Given the description of an element on the screen output the (x, y) to click on. 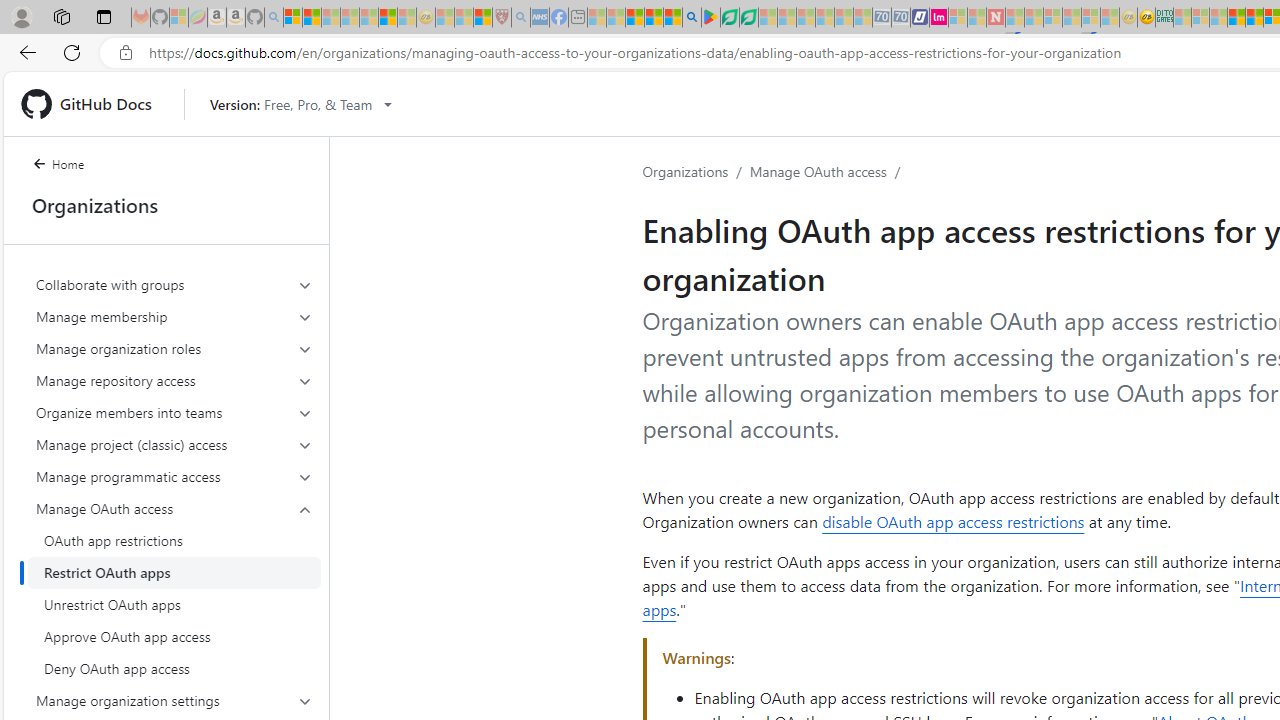
Local - MSN (482, 17)
Deny OAuth app access (174, 668)
Bluey: Let's Play! - Apps on Google Play (710, 17)
OAuth app restrictions (174, 540)
Personal Profile (21, 16)
Manage programmatic access (174, 476)
Manage project (classic) access (174, 444)
Unrestrict OAuth apps (174, 604)
Organize members into teams (174, 412)
Manage membership (174, 316)
New Report Confirms 2023 Was Record Hot | Watch - Sleeping (368, 17)
Manage organization settings (174, 700)
